Given the description of an element on the screen output the (x, y) to click on. 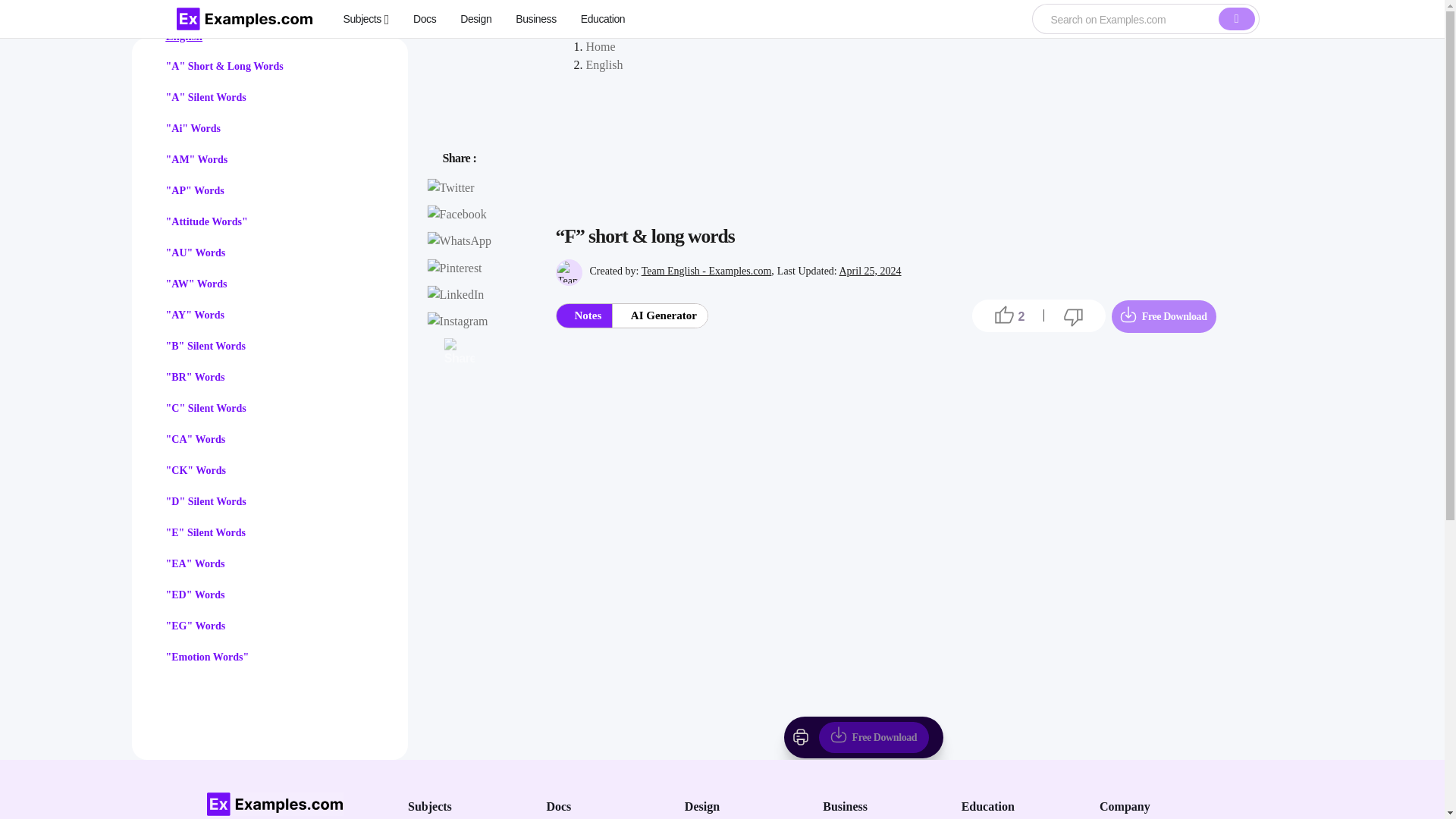
"Ai" Words (192, 128)
Team English - Examples.com (706, 270)
"B" Silent Words (205, 345)
Home (599, 46)
dislike (1073, 316)
"AY" Words (194, 315)
like (1003, 314)
"BR" Words (194, 377)
Education (603, 18)
"CA" Words (195, 439)
